Given the description of an element on the screen output the (x, y) to click on. 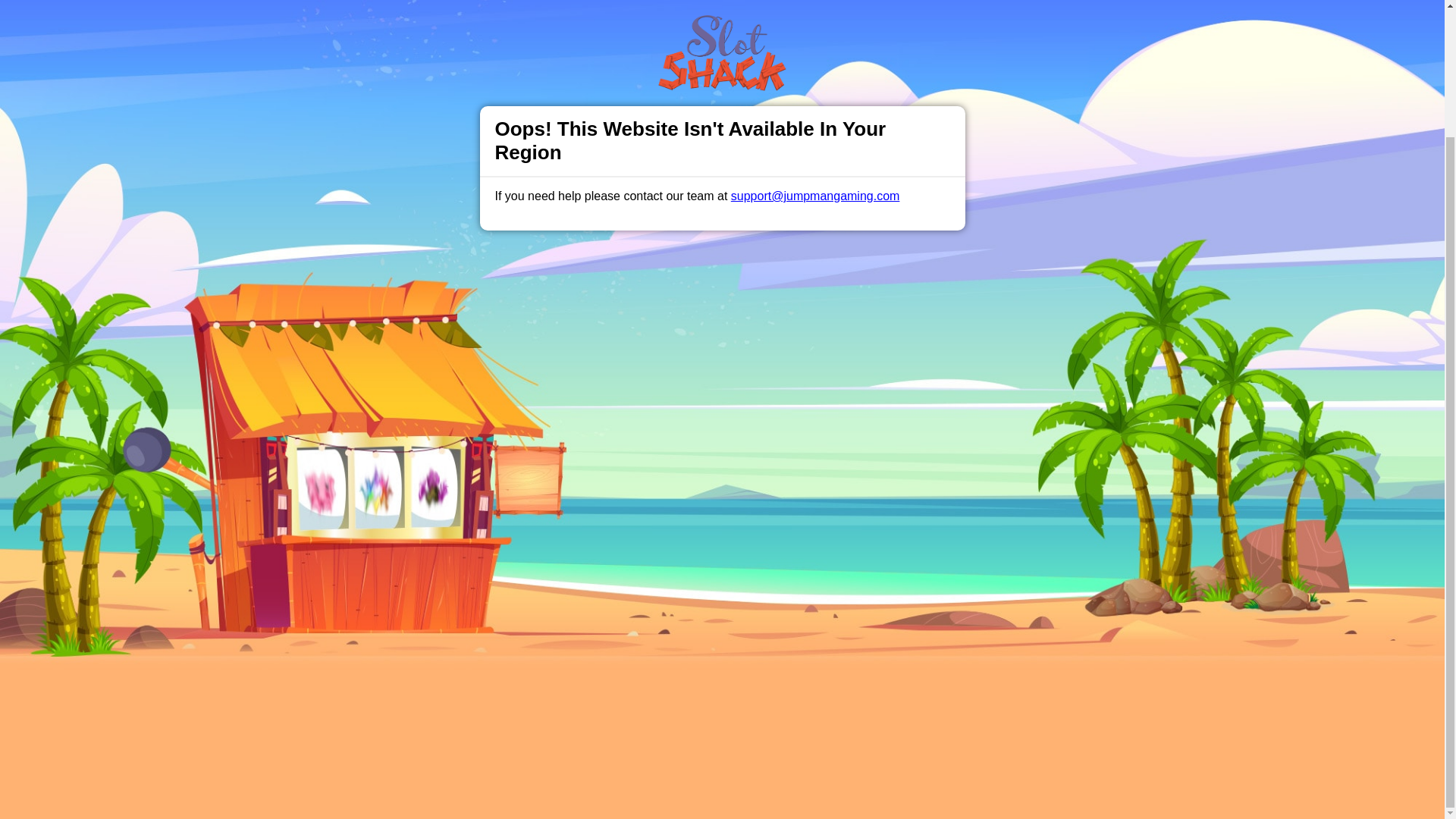
Jumpman Gaming Limited (517, 694)
Cookie Policy (800, 645)
Responsible Gaming (407, 473)
Privacy Policy (671, 473)
Slot Machine (542, 492)
www.jumpmancares.co.uk (738, 657)
Bingo Games (597, 492)
Casino Game (485, 492)
39175 (991, 694)
Back To Home (722, 362)
